Given the description of an element on the screen output the (x, y) to click on. 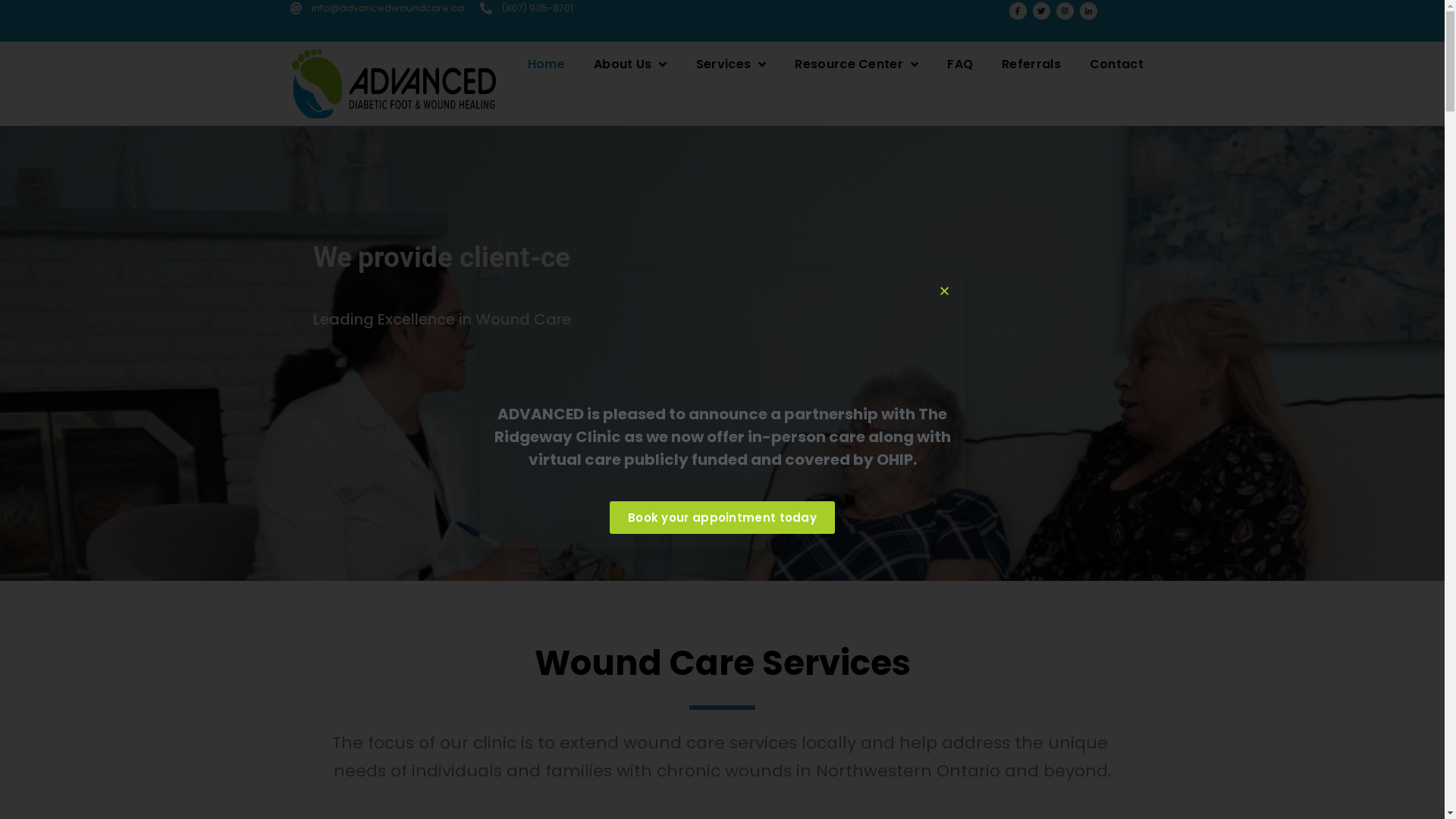
Referrals Element type: text (1031, 64)
Home Element type: text (546, 64)
About Us Element type: text (630, 64)
(807) 935-8701 Element type: text (525, 8)
Contact Element type: text (1116, 64)
FAQ Element type: text (960, 64)
Resource Center Element type: text (856, 64)
Services Element type: text (731, 64)
info@advancedwoundcare.ca Element type: text (376, 8)
Book your appointment today Element type: text (721, 517)
